Given the description of an element on the screen output the (x, y) to click on. 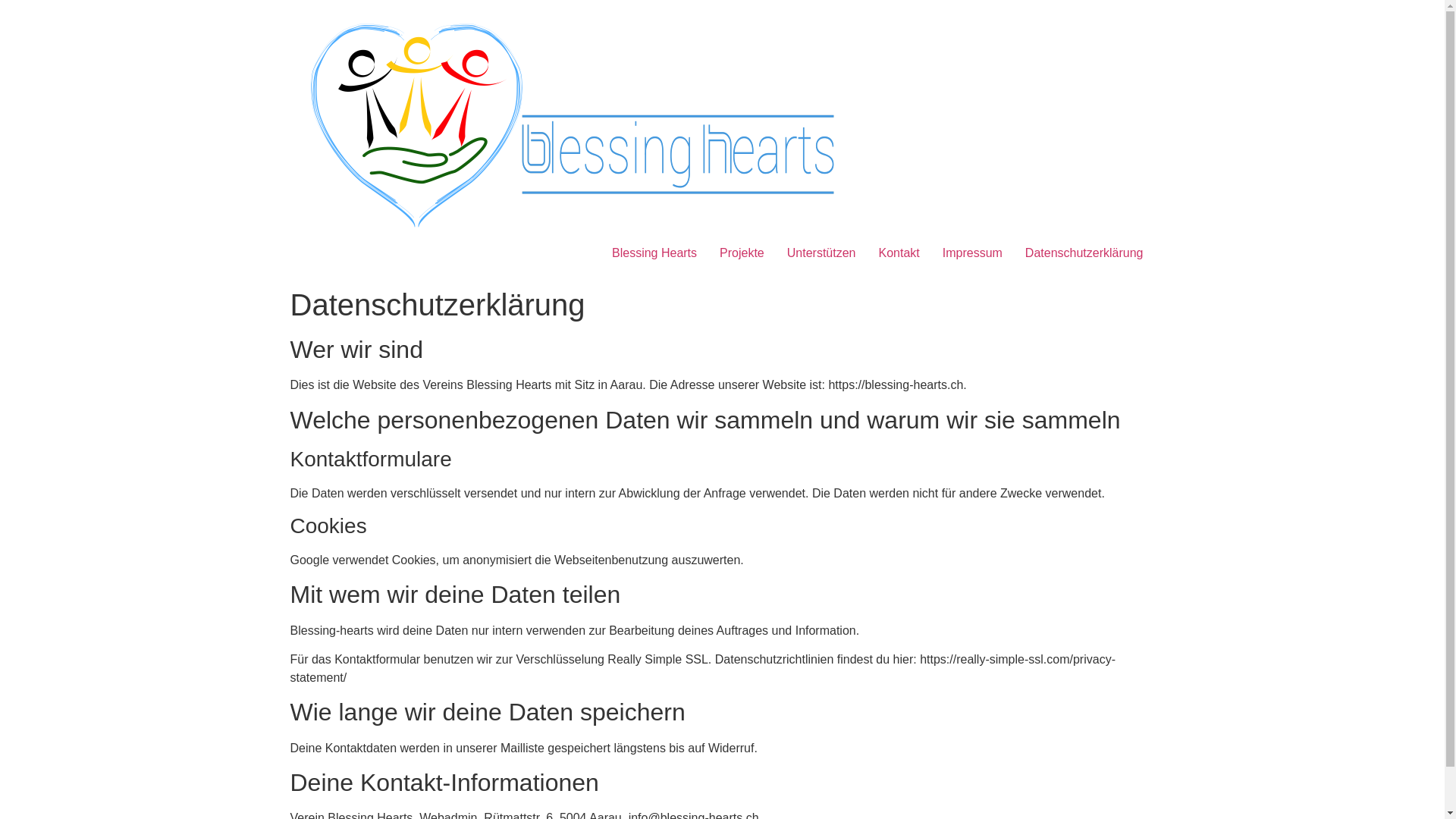
Blessing Hearts Element type: text (654, 253)
Kontakt Element type: text (898, 253)
Projekte Element type: text (741, 253)
Impressum Element type: text (972, 253)
